Given the description of an element on the screen output the (x, y) to click on. 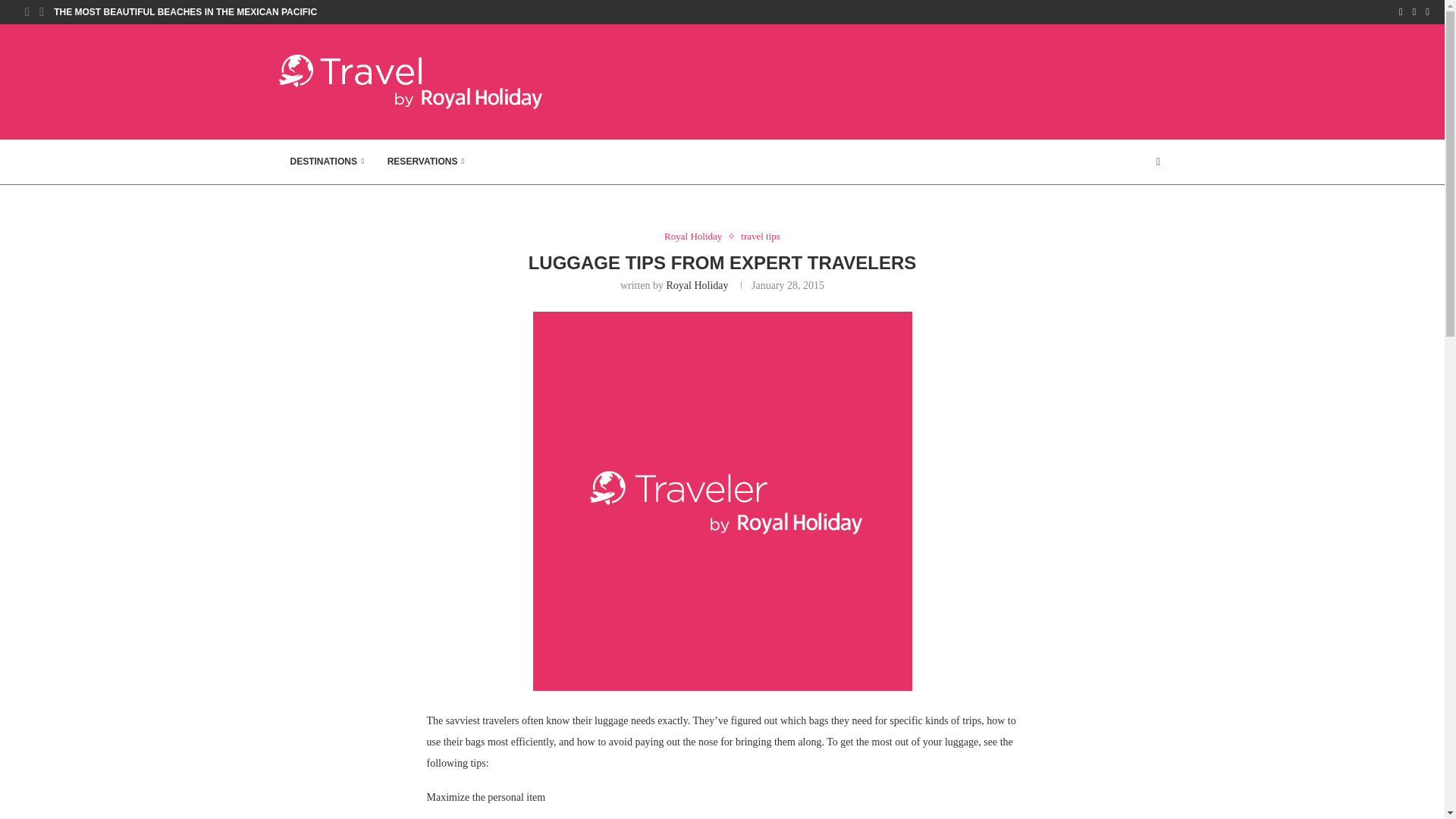
Royal Holiday (696, 236)
DESTINATIONS (327, 162)
RESERVATIONS (425, 162)
THE MOST BEAUTIFUL BEACHES IN THE MEXICAN PACIFIC (185, 12)
Royal Holiday (697, 285)
travel tips (760, 236)
